Given the description of an element on the screen output the (x, y) to click on. 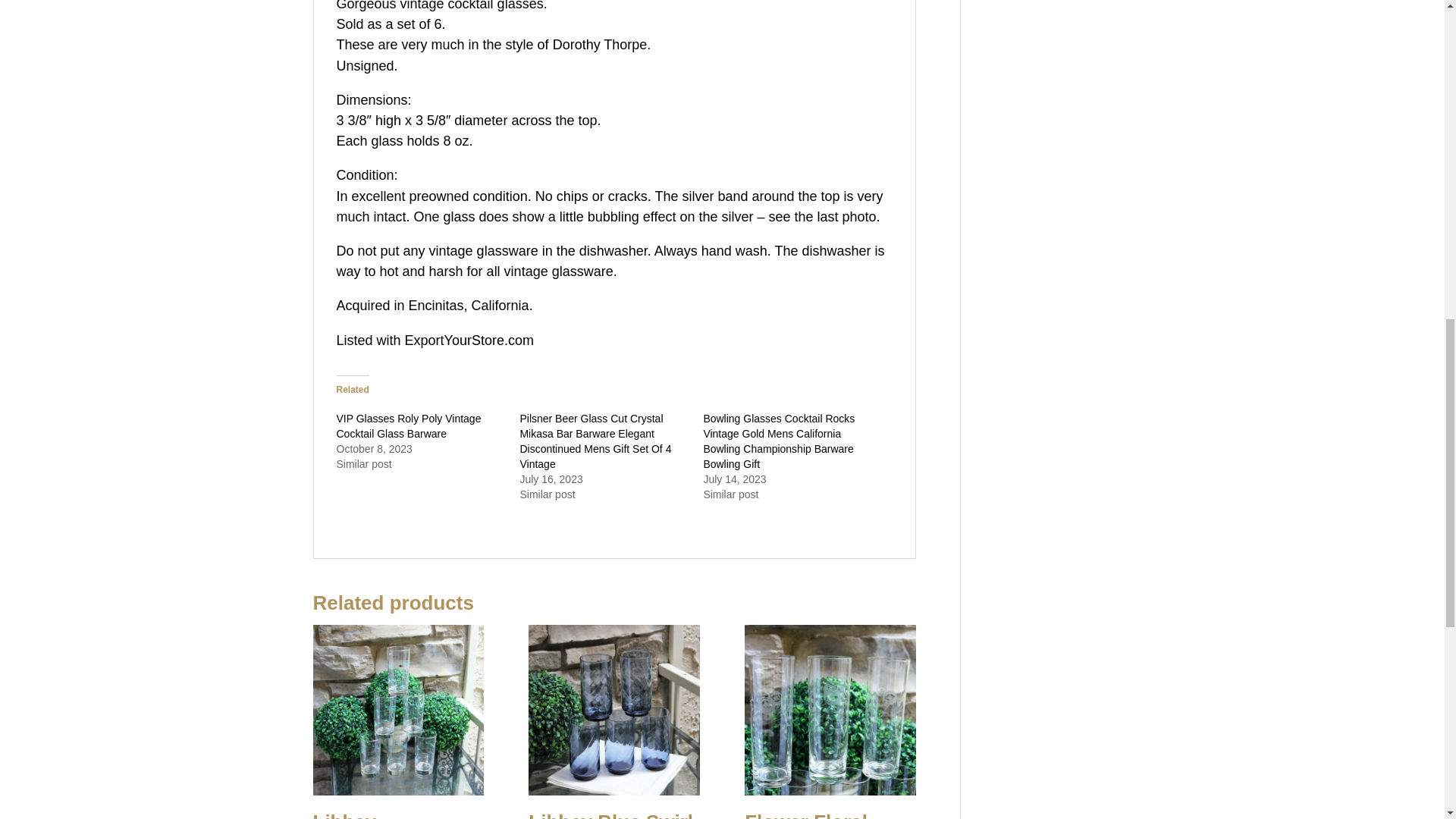
VIP Glasses Roly Poly Vintage Cocktail Glass Barware (408, 425)
VIP Glasses Roly Poly Vintage Cocktail Glass Barware (408, 425)
